Given the description of an element on the screen output the (x, y) to click on. 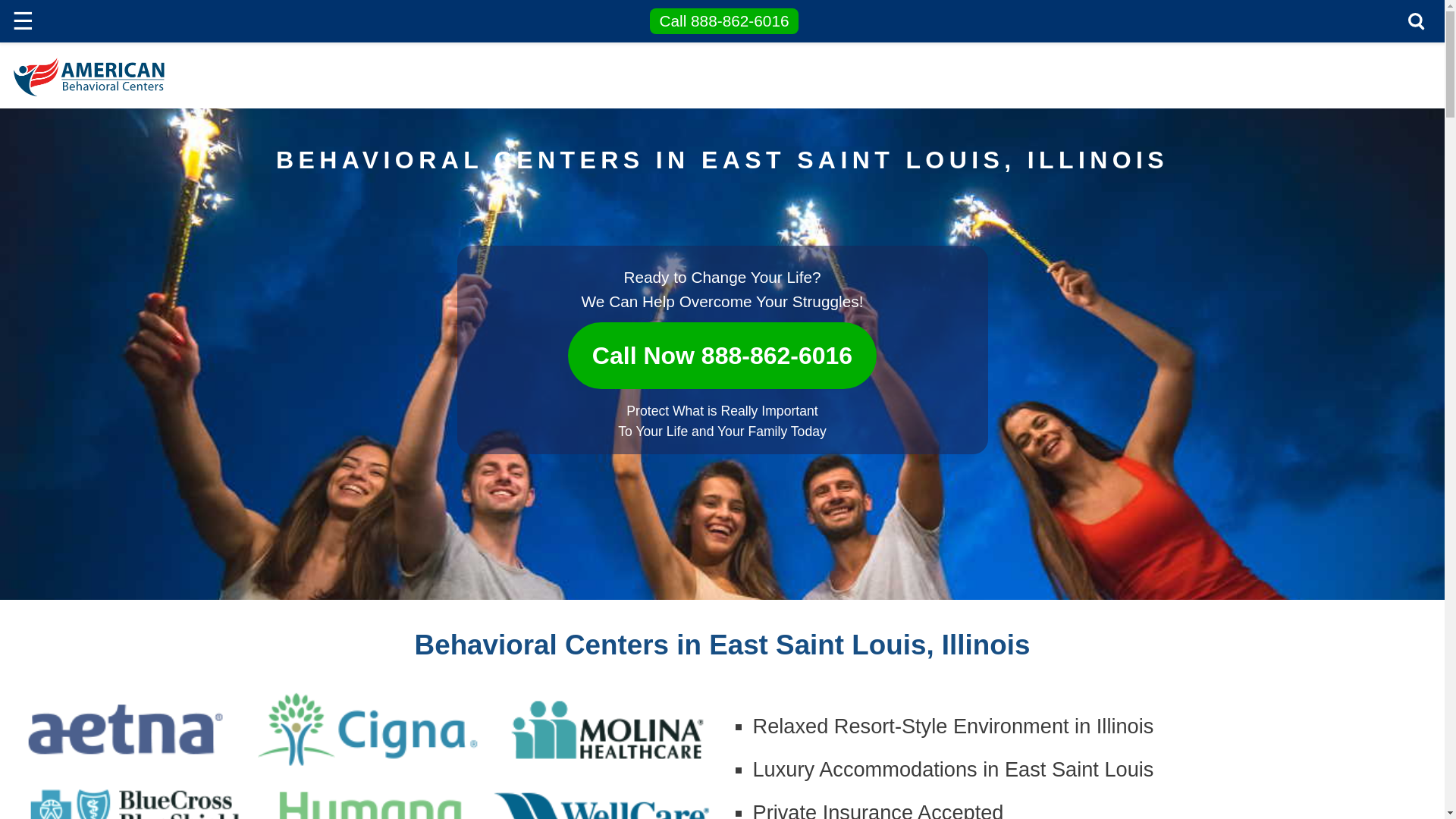
Call 888-862-6016 (724, 21)
Call Now 888-862-6016 (722, 348)
